Given the description of an element on the screen output the (x, y) to click on. 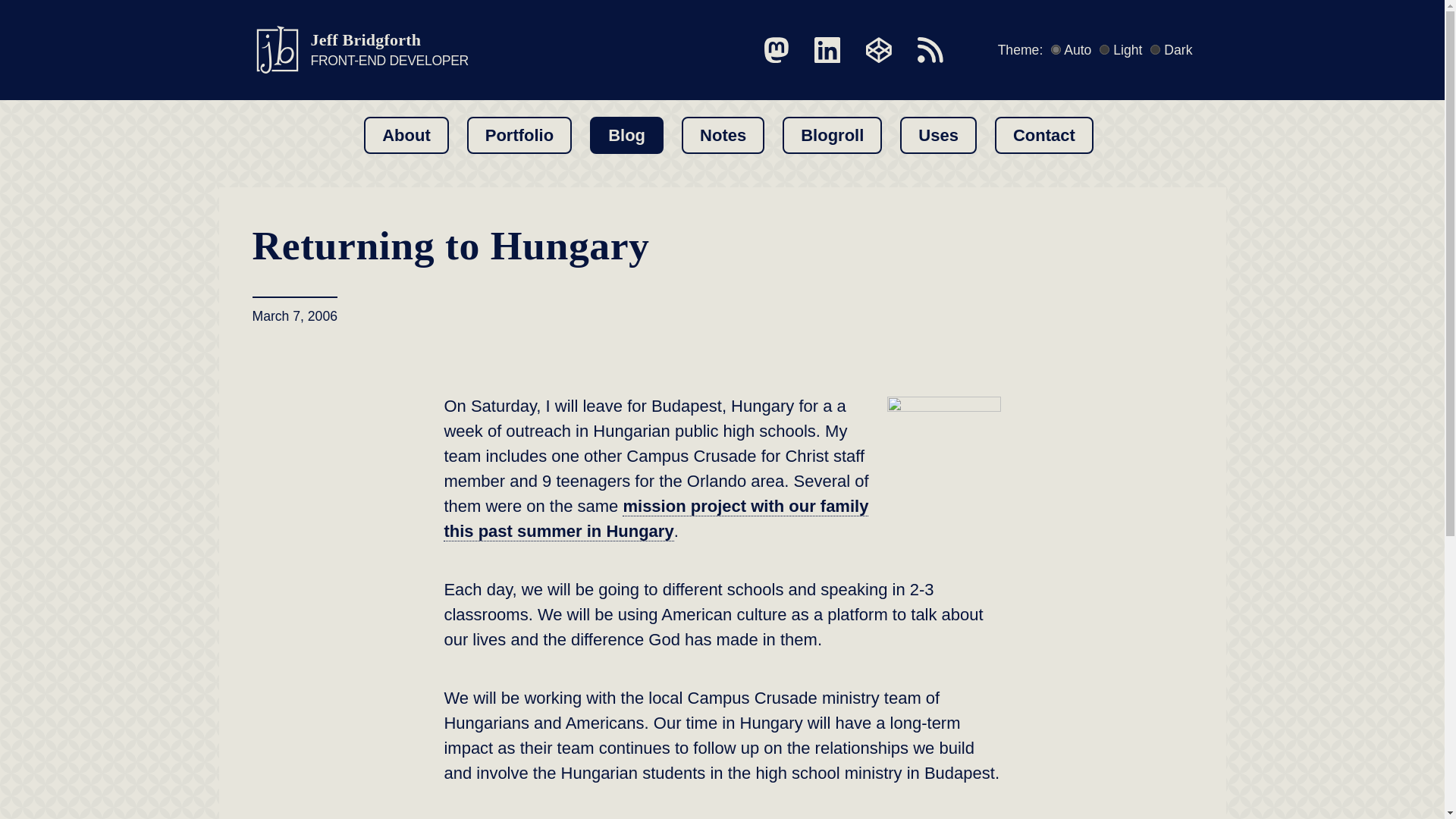
Blog (626, 135)
Blogroll (832, 135)
dark (1155, 49)
Uses (937, 135)
Codepen (878, 49)
auto (1056, 49)
About (406, 135)
mission project with our family this past summer in Hungary (655, 518)
Notes (722, 135)
Portfolio (519, 135)
Contact (1043, 135)
Feed (359, 50)
Mastodon (929, 49)
LinkedIn (776, 49)
